Given the description of an element on the screen output the (x, y) to click on. 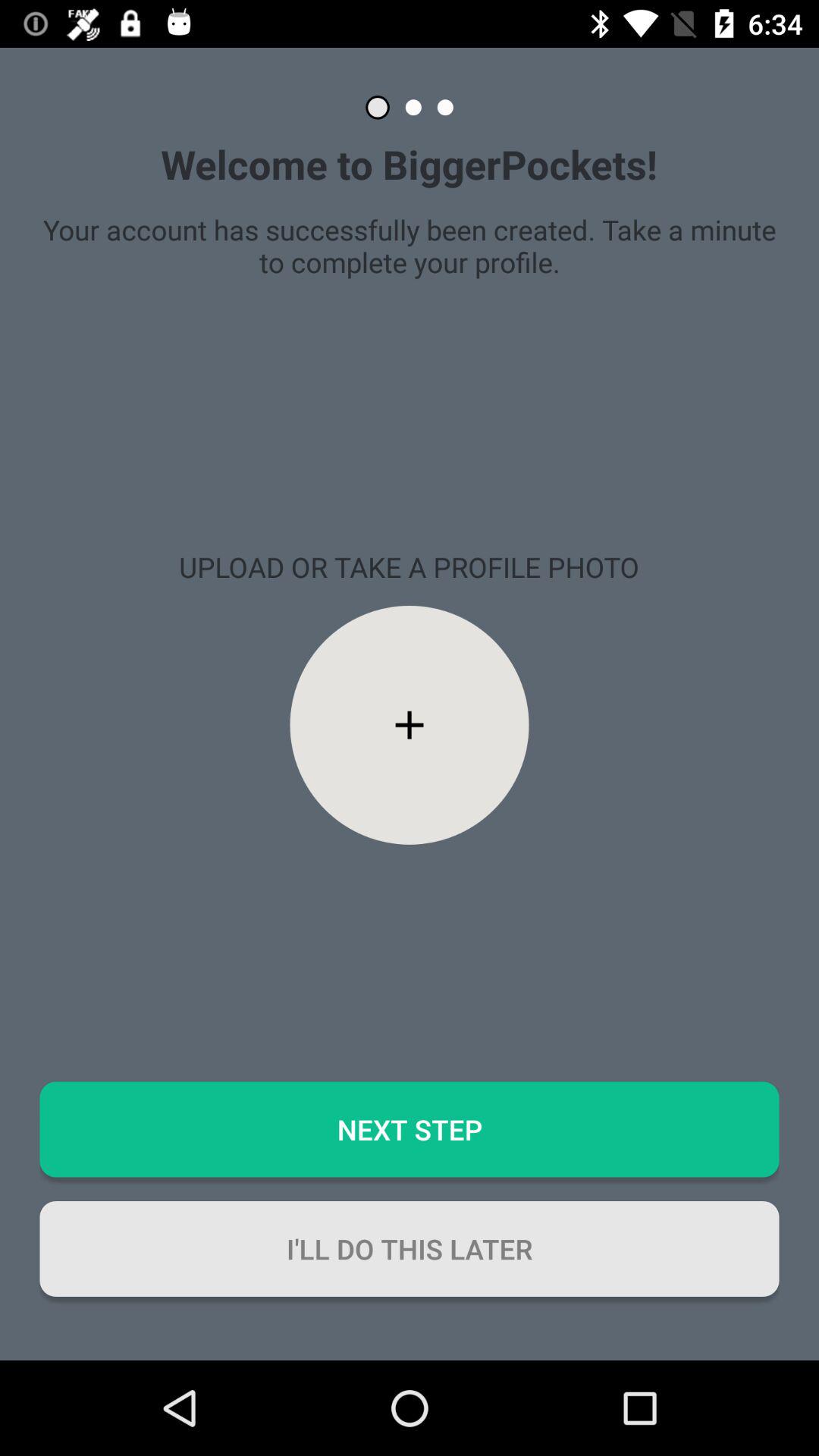
select app below the upload or take item (409, 724)
